Given the description of an element on the screen output the (x, y) to click on. 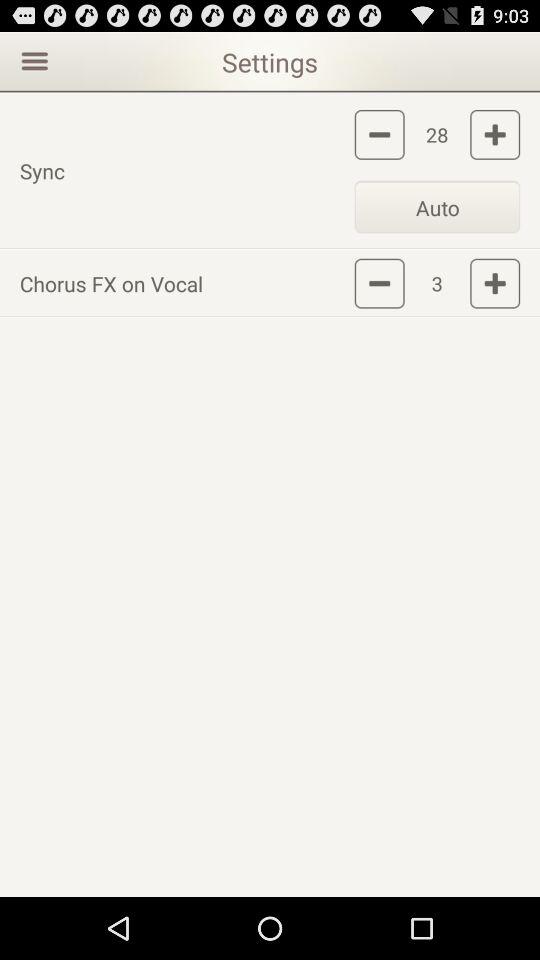
decrease the chorus fx on vocal option (379, 283)
